Given the description of an element on the screen output the (x, y) to click on. 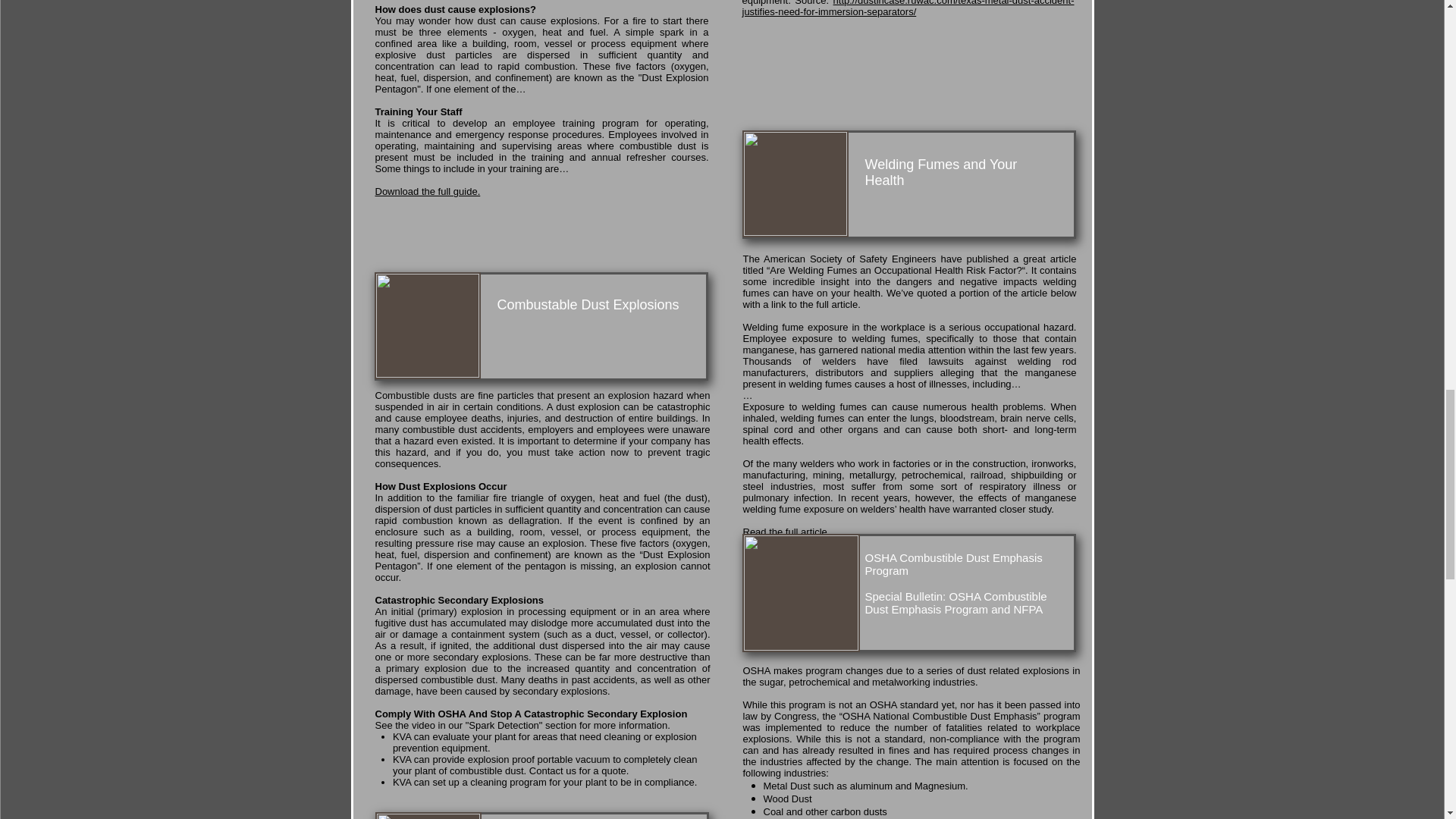
combustdustexp1.jpg (427, 325)
Read the full article. (785, 531)
ma-oshacombust1.jpg (800, 592)
compressedair1.jpg (427, 815)
Download the full guide. (427, 191)
